Given the description of an element on the screen output the (x, y) to click on. 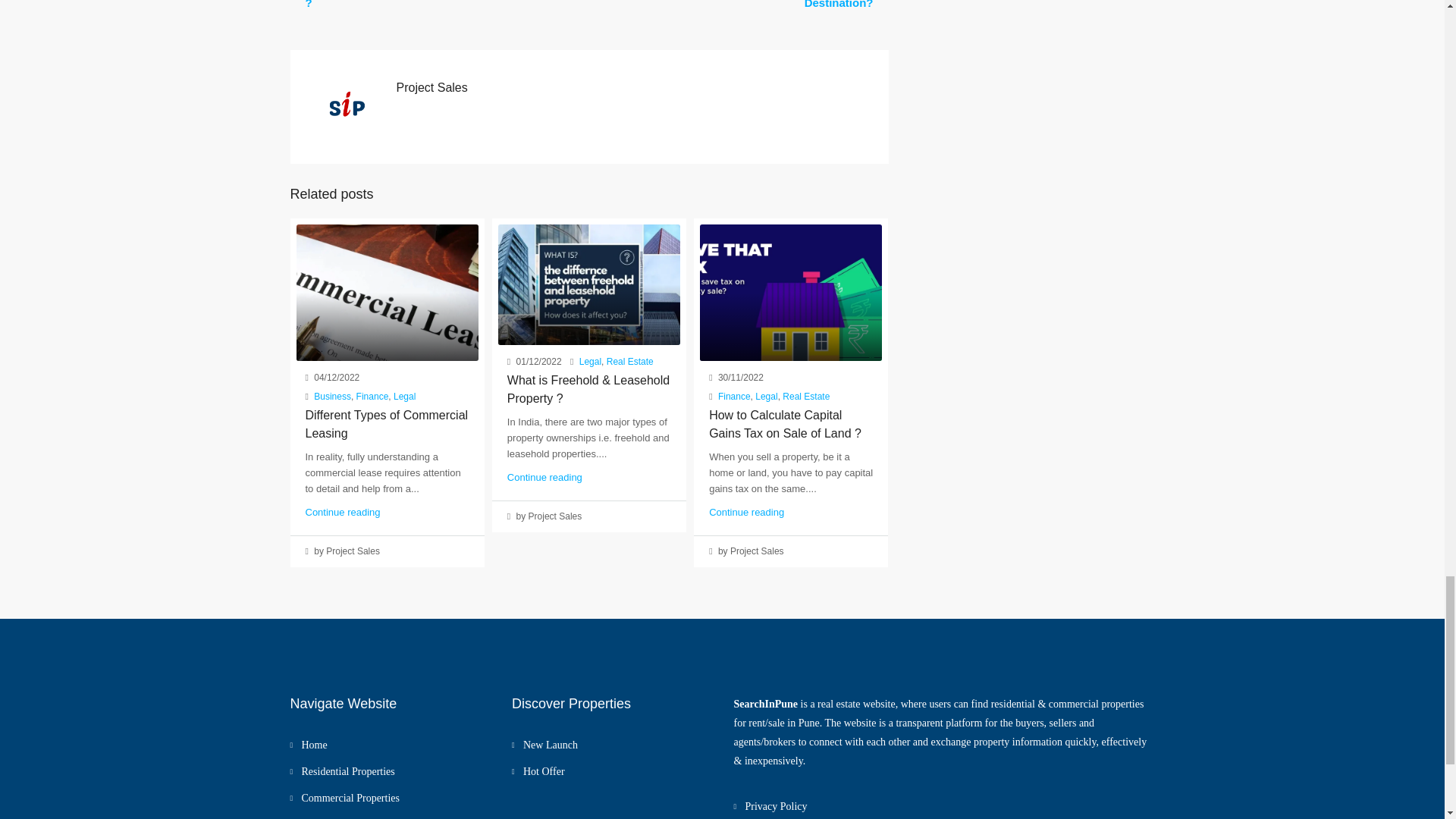
Finance (372, 396)
Why every real estate agent must have website ? (431, 4)
Legal (403, 396)
Different Types of Commercial Leasing (385, 423)
Why Wakad Is The Perfect Investment Destination? (770, 4)
Business (332, 396)
